Given the description of an element on the screen output the (x, y) to click on. 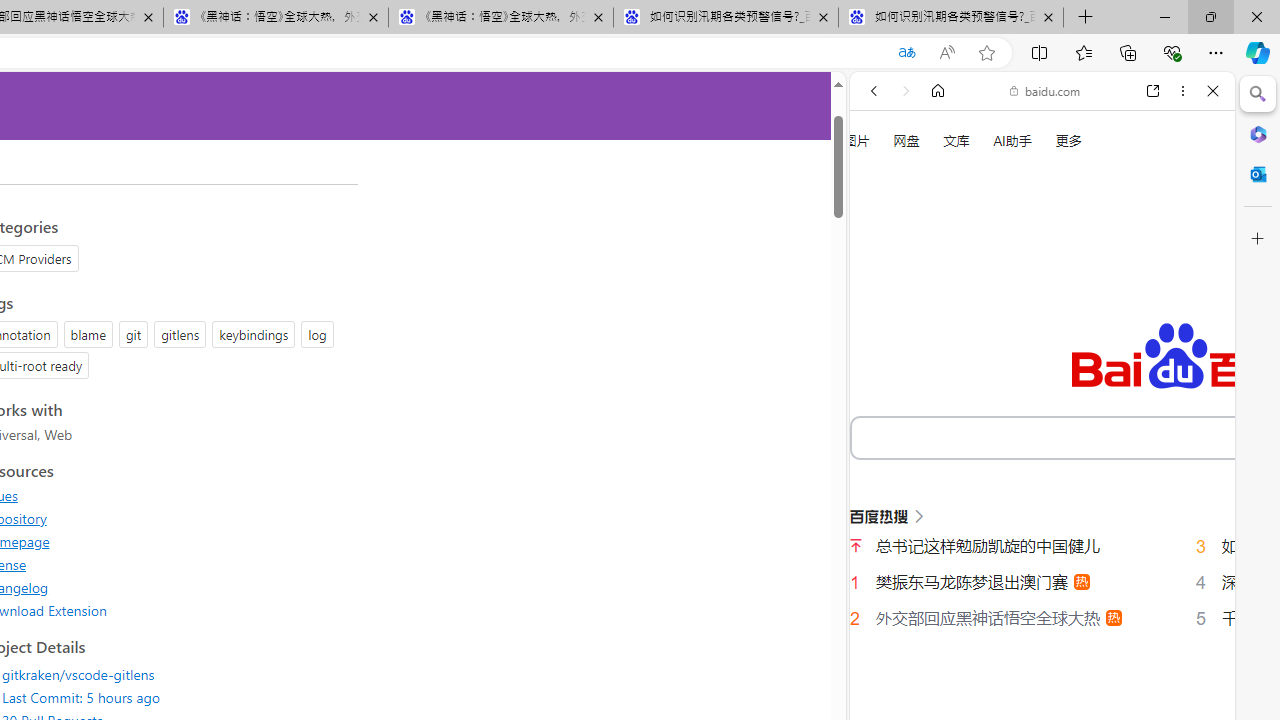
Cambridge Dictionary (1034, 698)
English (Uk) (1042, 628)
